Given the description of an element on the screen output the (x, y) to click on. 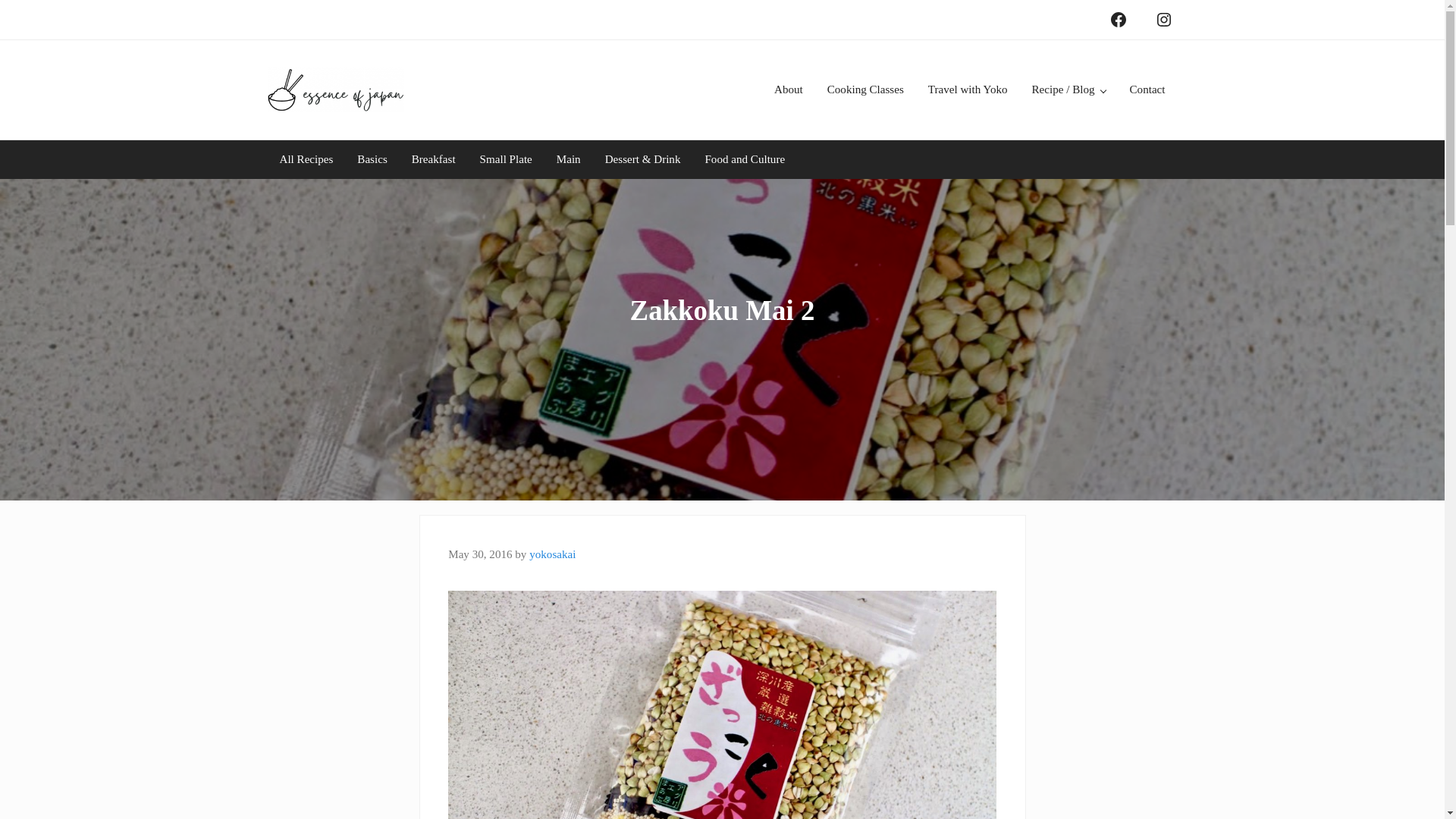
Main (568, 159)
Instagram (1163, 19)
Facebook (1117, 19)
Small Plate (505, 159)
Breakfast (432, 159)
Food and Culture (744, 159)
yokosakai (552, 553)
Cooking Classes (865, 89)
Contact (1147, 89)
